Given the description of an element on the screen output the (x, y) to click on. 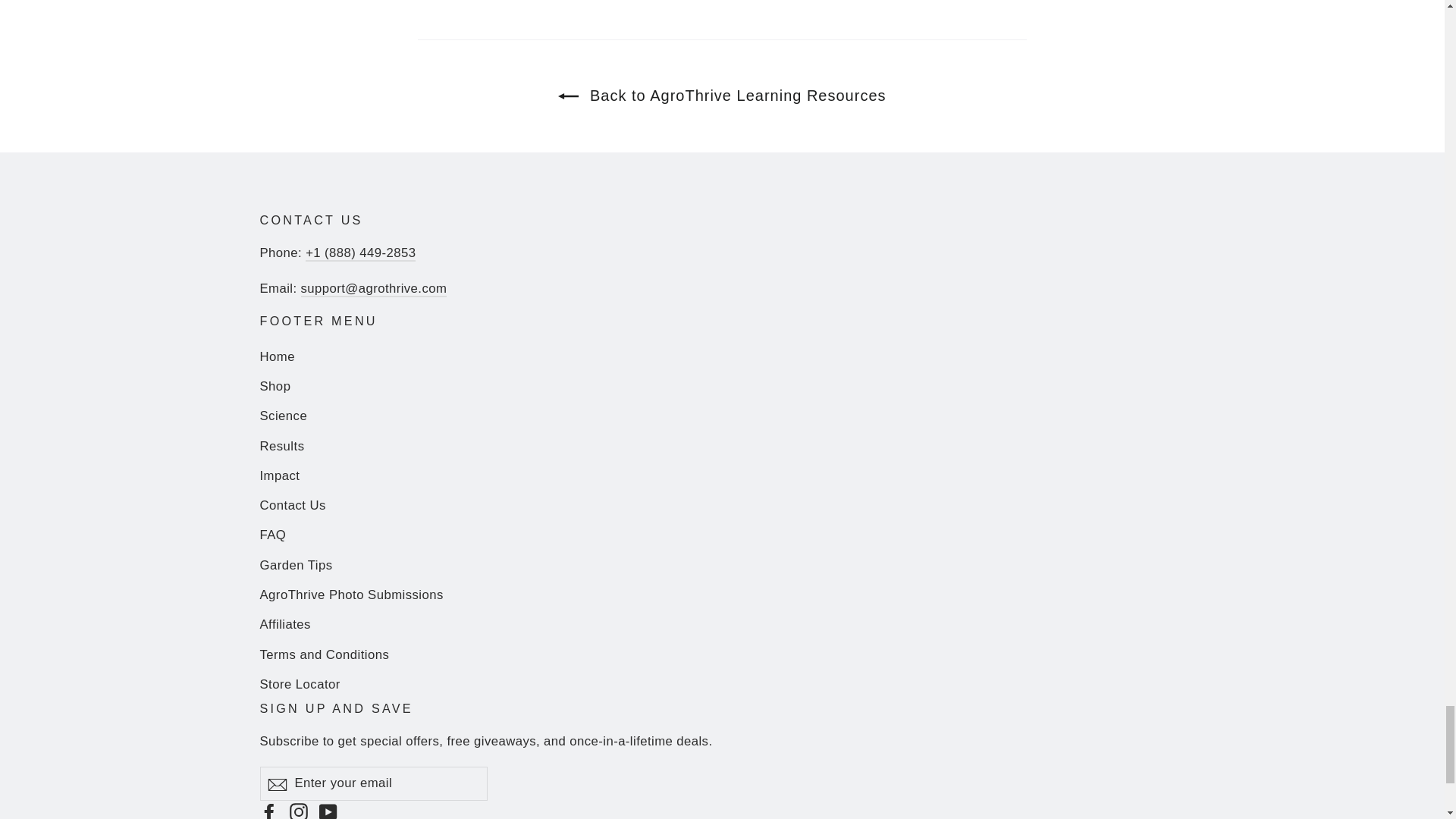
AgroThrive on YouTube (327, 809)
AgroThrive on Facebook (268, 809)
AgroThrive on Instagram (298, 809)
